Given the description of an element on the screen output the (x, y) to click on. 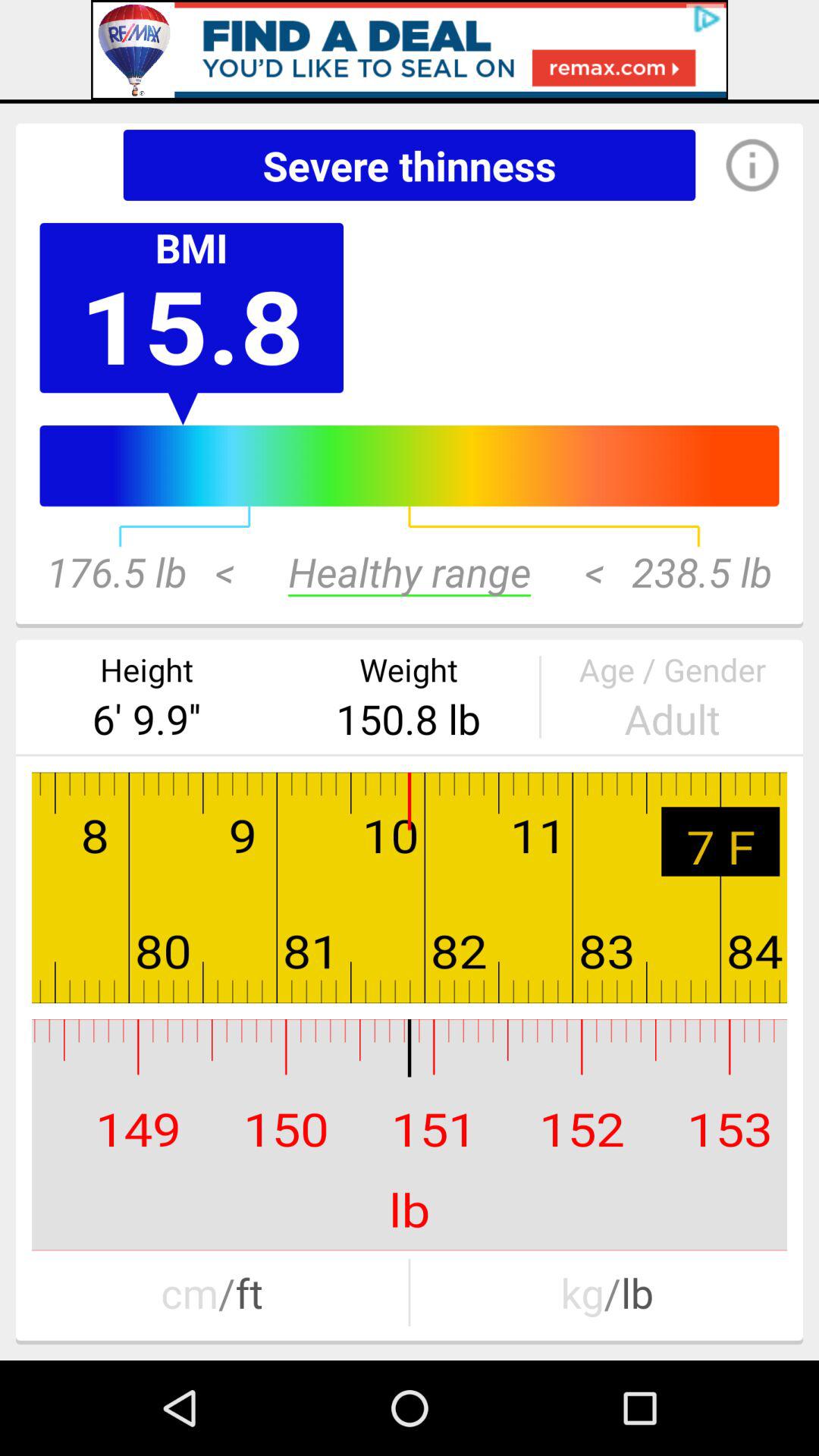
select the add (409, 49)
